Given the description of an element on the screen output the (x, y) to click on. 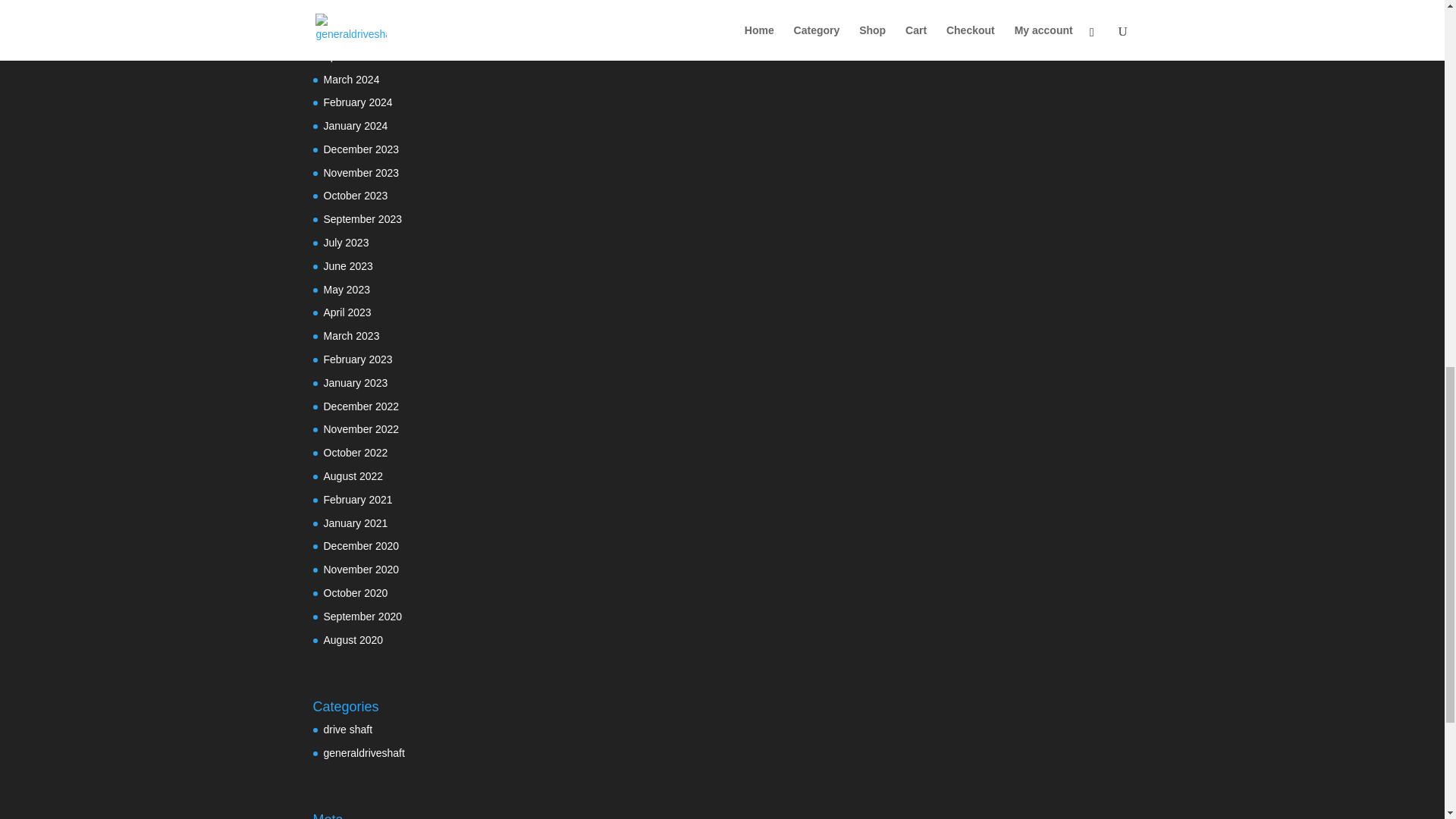
January 2023 (355, 382)
December 2020 (360, 545)
August 2022 (352, 476)
June 2023 (347, 265)
February 2021 (357, 499)
November 2023 (360, 173)
December 2022 (360, 406)
July 2023 (345, 242)
June 2024 (347, 9)
April 2024 (347, 55)
